Given the description of an element on the screen output the (x, y) to click on. 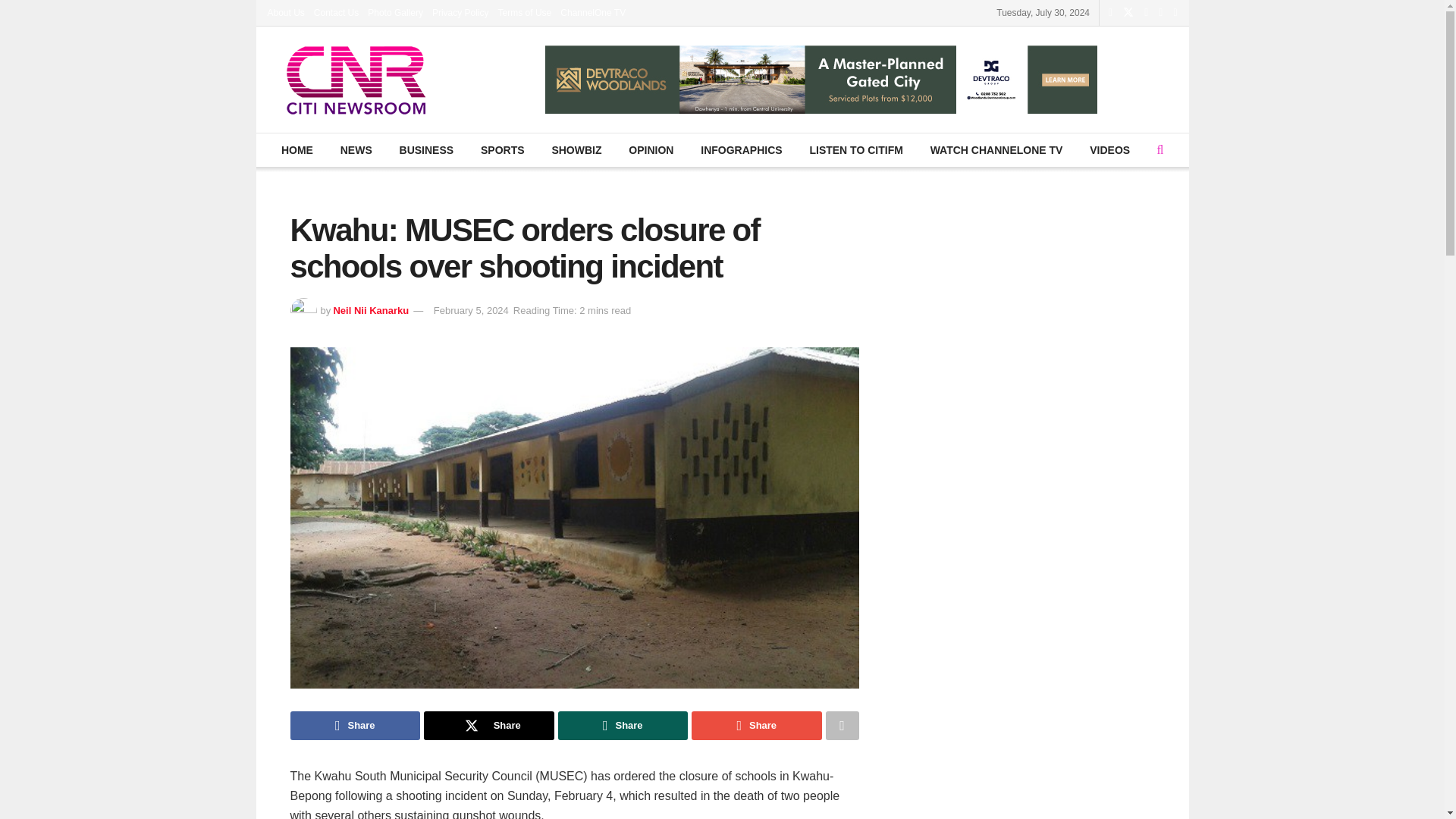
BUSINESS (425, 150)
Privacy Policy (460, 12)
HOME (296, 150)
NEWS (355, 150)
Terms of Use (524, 12)
About Us (285, 12)
INFOGRAPHICS (740, 150)
Photo Gallery (395, 12)
LISTEN TO CITIFM (855, 150)
Posts by Neil Nii Kanarku (371, 310)
ChannelOne TV (593, 12)
OPINION (651, 150)
Contact Us (336, 12)
SPORTS (502, 150)
VIDEOS (1109, 150)
